Given the description of an element on the screen output the (x, y) to click on. 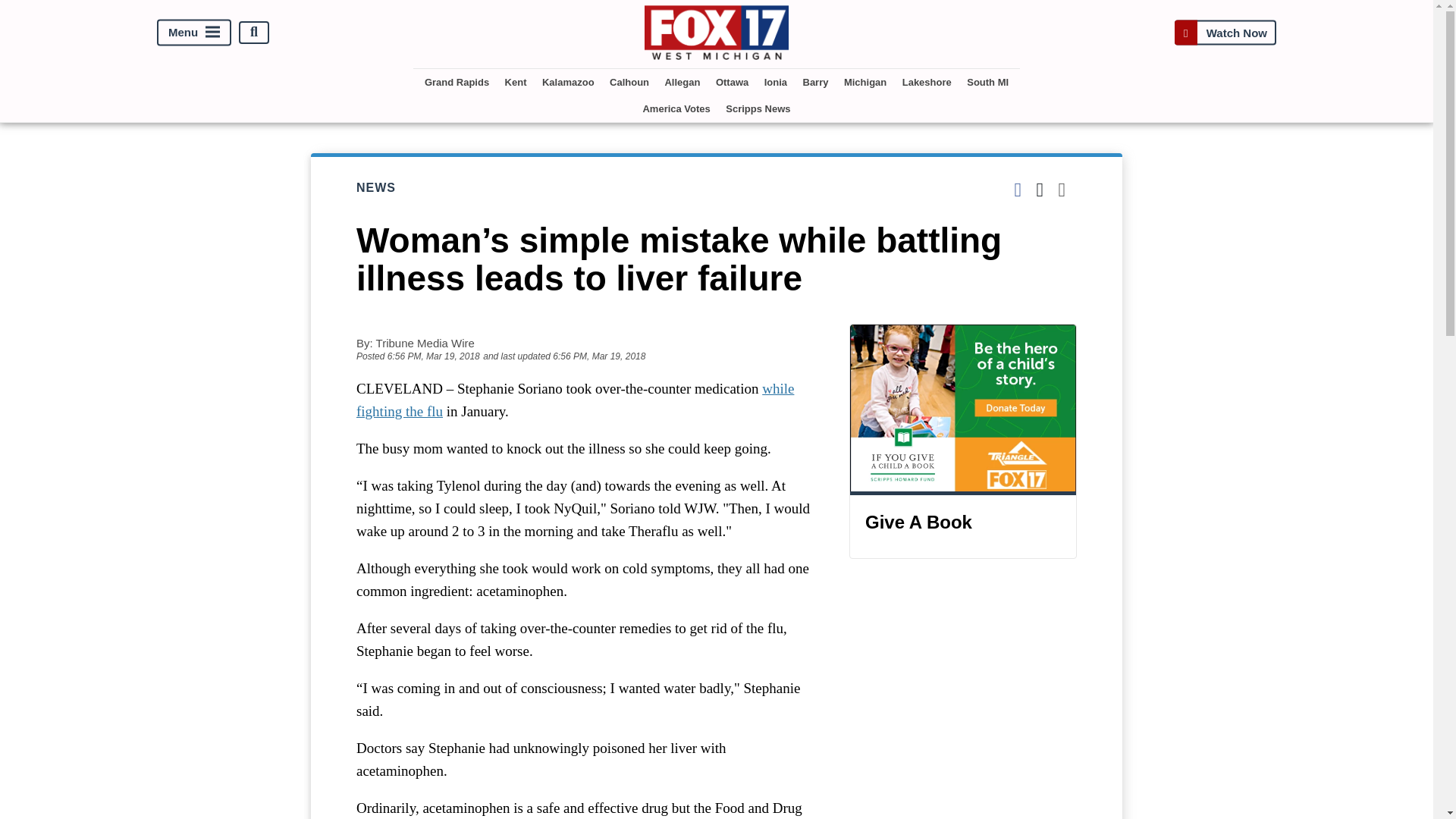
Menu (194, 31)
Watch Now (1224, 31)
